Given the description of an element on the screen output the (x, y) to click on. 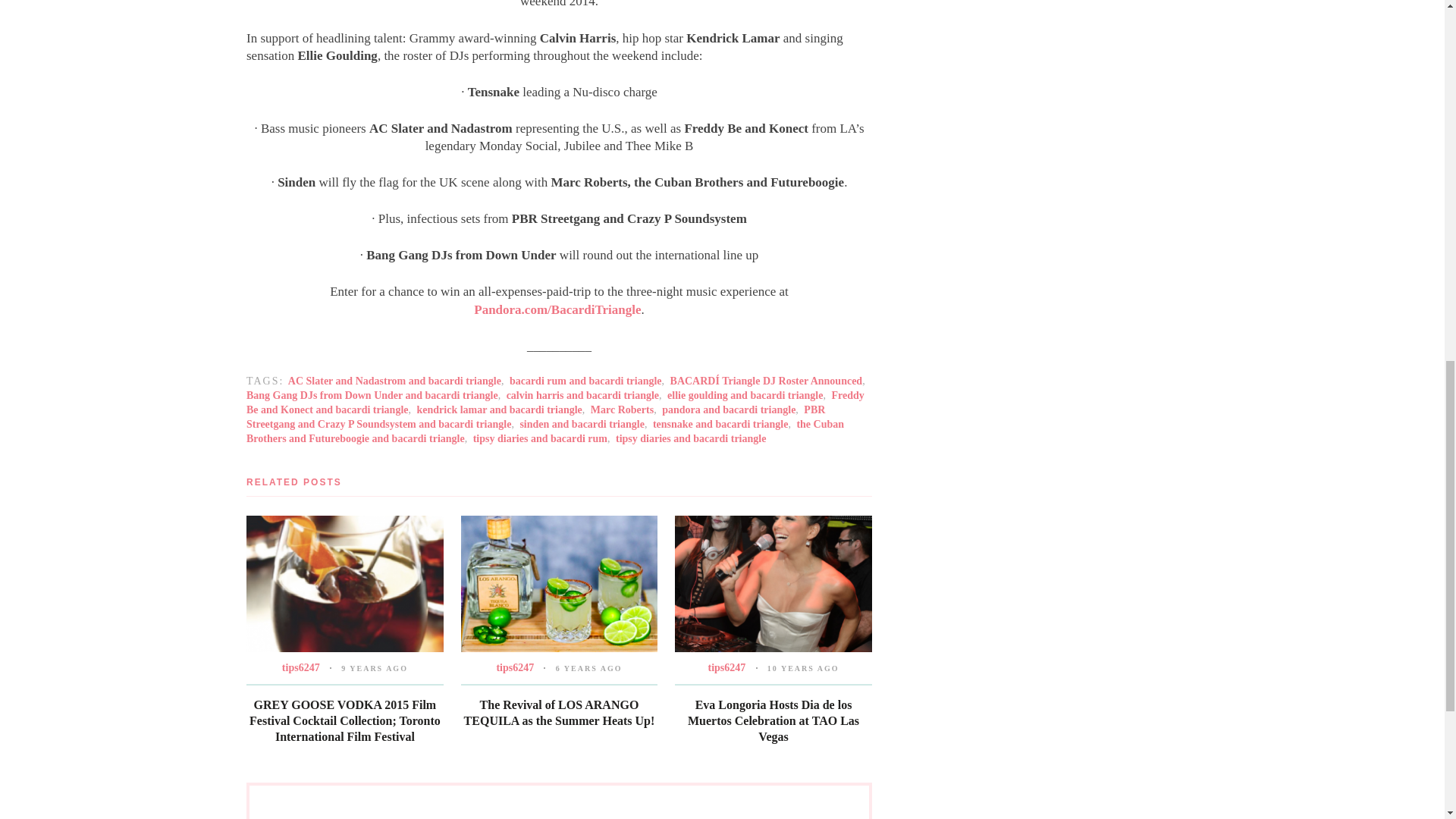
kendrick lamar and bacardi triangle (499, 409)
Bang Gang DJs from Down Under and bacardi triangle (371, 395)
pandora and bacardi triangle (728, 409)
AC Slater and Nadastrom and bacardi triangle (394, 380)
Posts by tips6247 (726, 667)
bacardi rum and bacardi triangle (585, 380)
Posts by tips6247 (515, 667)
Posts by tips6247 (301, 667)
ellie goulding and bacardi triangle (744, 395)
Marc Roberts (622, 409)
